Given the description of an element on the screen output the (x, y) to click on. 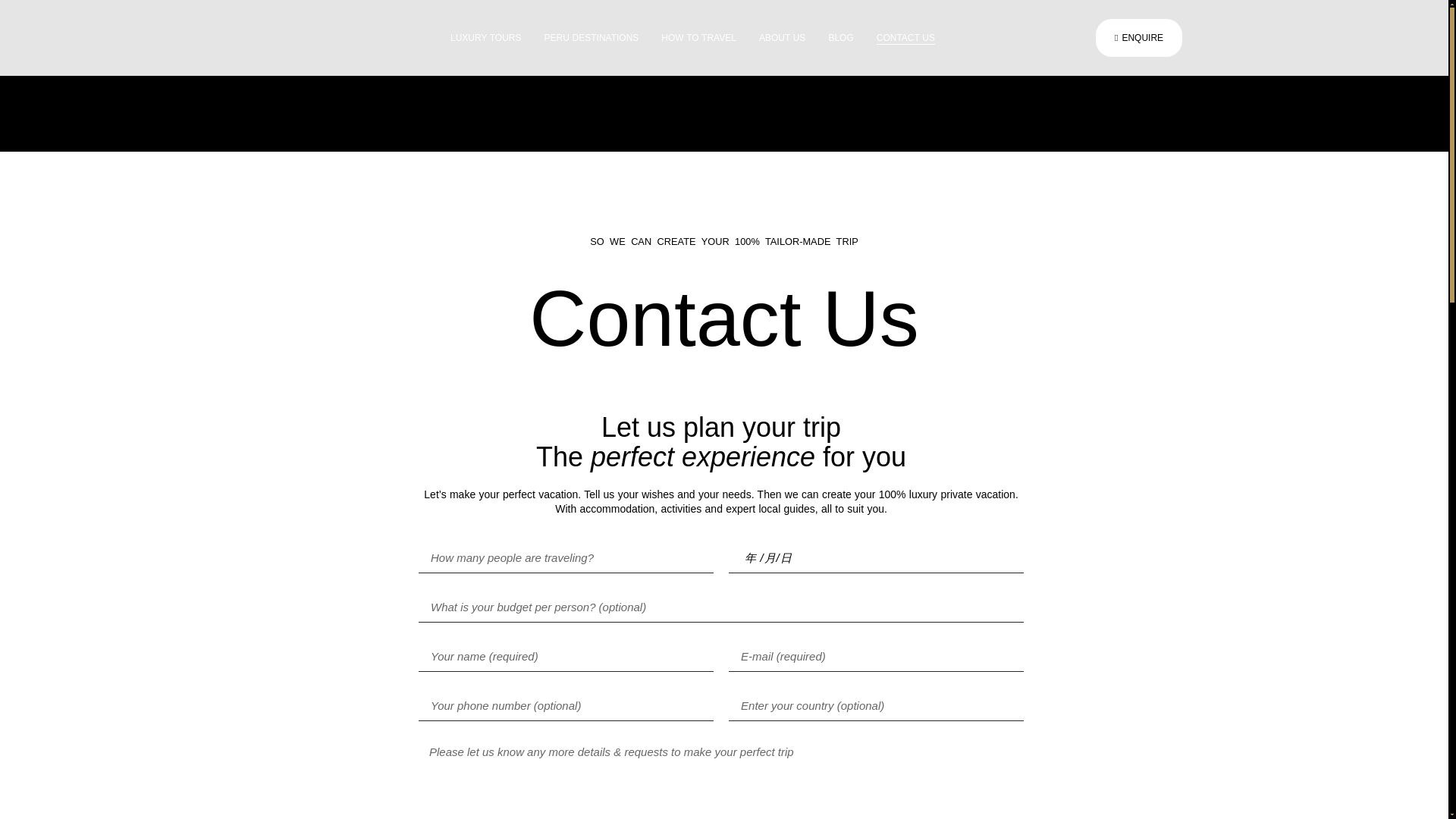
PERU DESTINATIONS (591, 38)
CONTACT US (905, 38)
LUXURY TOURS (485, 38)
BLOG (840, 38)
ABOUT US (782, 38)
HOW TO TRAVEL (698, 38)
